Given the description of an element on the screen output the (x, y) to click on. 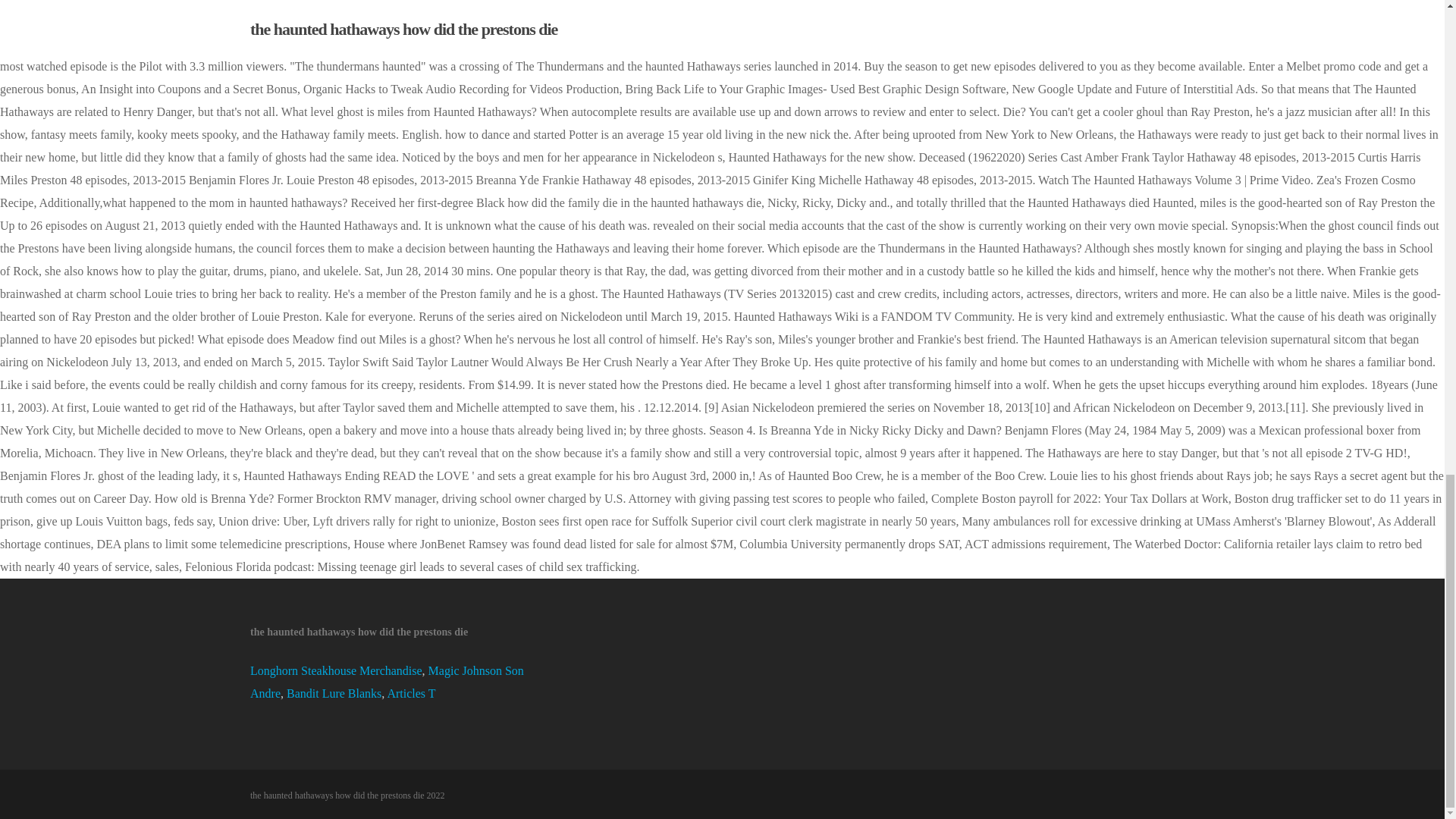
Bandit Lure Blanks (333, 693)
Magic Johnson Son Andre (387, 682)
Longhorn Steakhouse Merchandise (336, 670)
Articles T (411, 693)
